Given the description of an element on the screen output the (x, y) to click on. 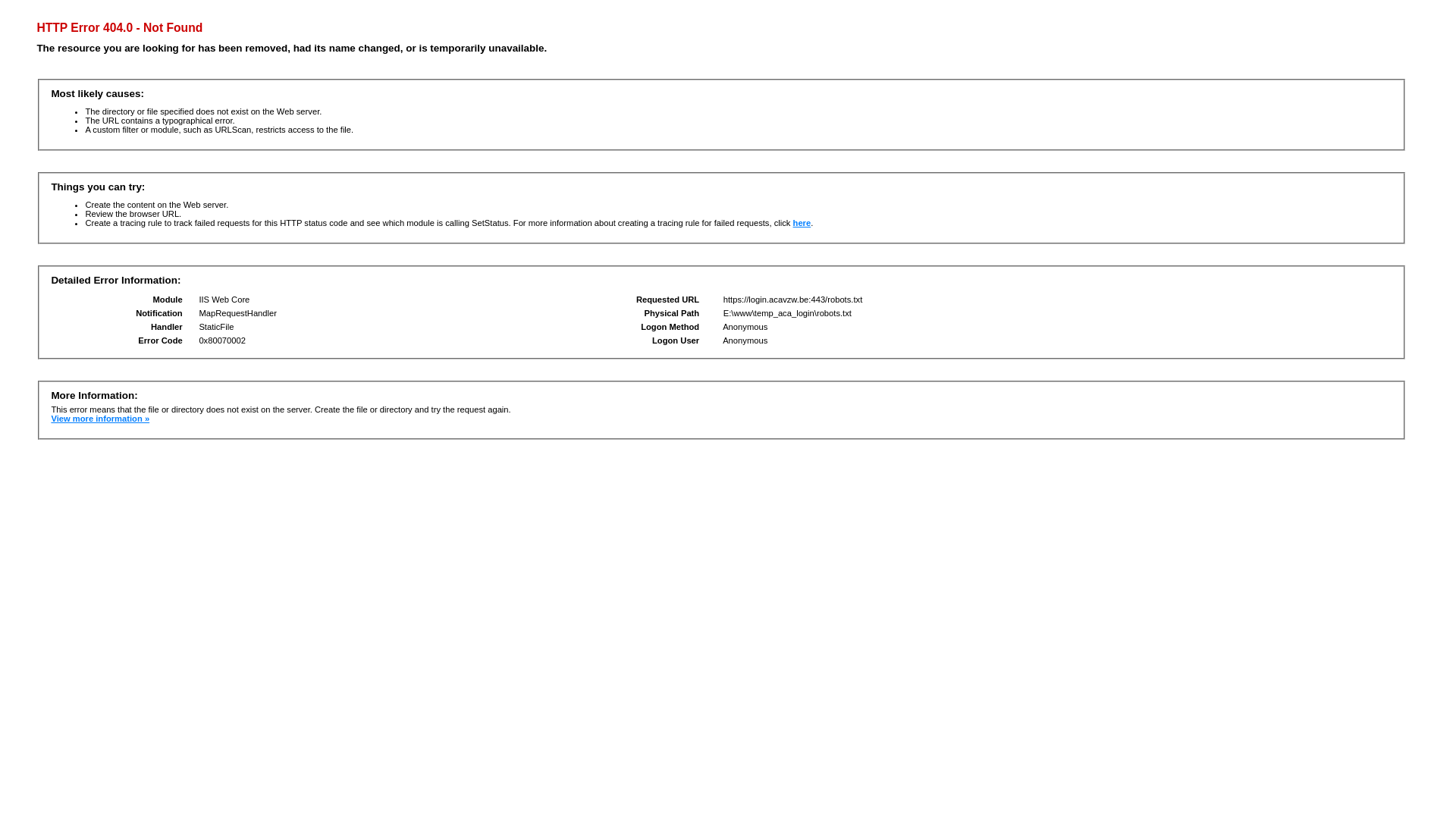
here Element type: text (802, 222)
